Given the description of an element on the screen output the (x, y) to click on. 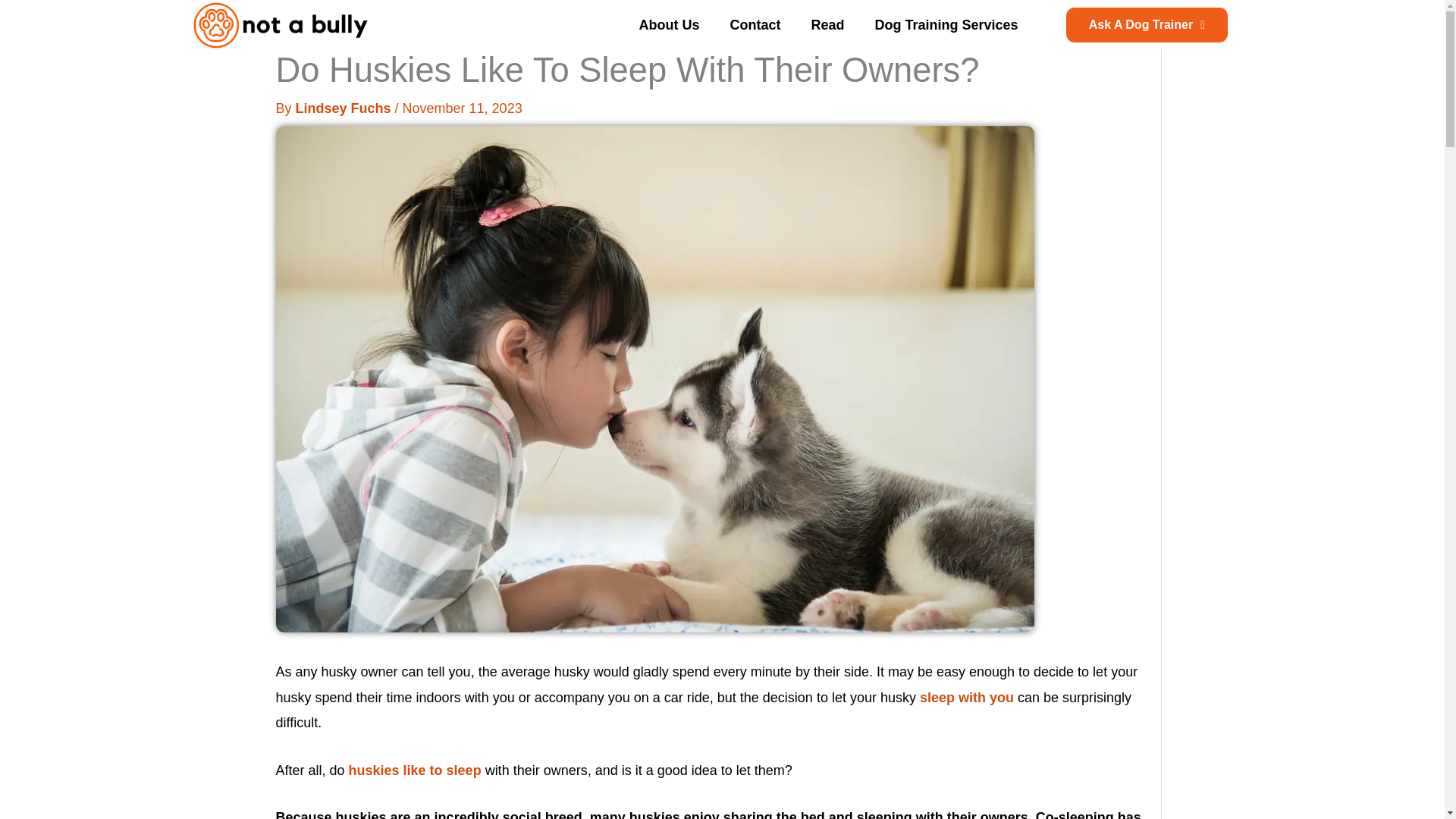
Contact (754, 24)
Read (826, 24)
Lindsey Fuchs (344, 108)
About Us (668, 24)
Ask A Dog Trainer (1146, 24)
View all posts by Lindsey Fuchs (344, 108)
Dog Training Services (945, 24)
